Given the description of an element on the screen output the (x, y) to click on. 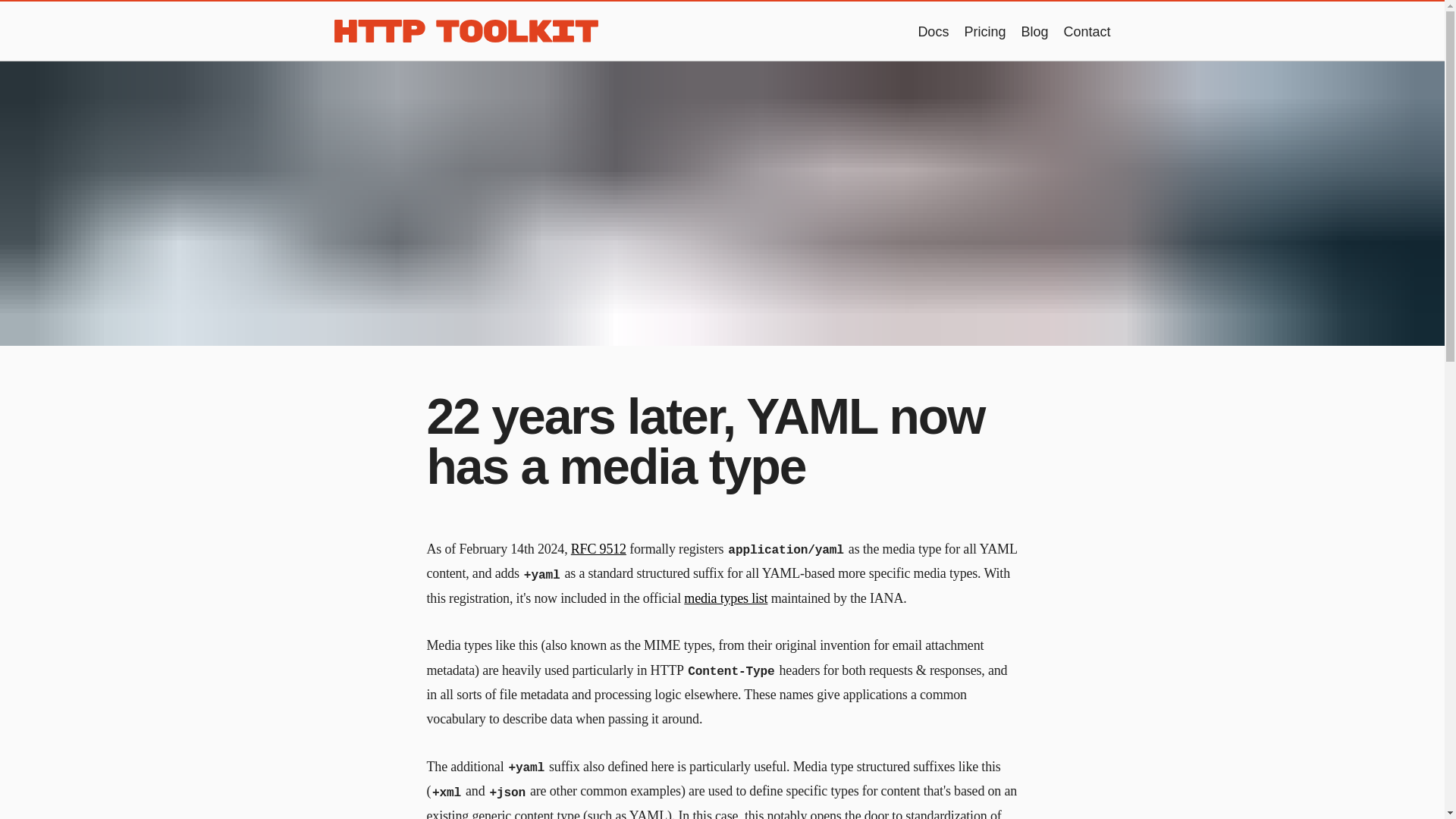
Contact (1085, 31)
Blog (1034, 31)
RFC 9512 (598, 548)
Pricing (984, 31)
media types list (725, 598)
Docs (933, 31)
